Given the description of an element on the screen output the (x, y) to click on. 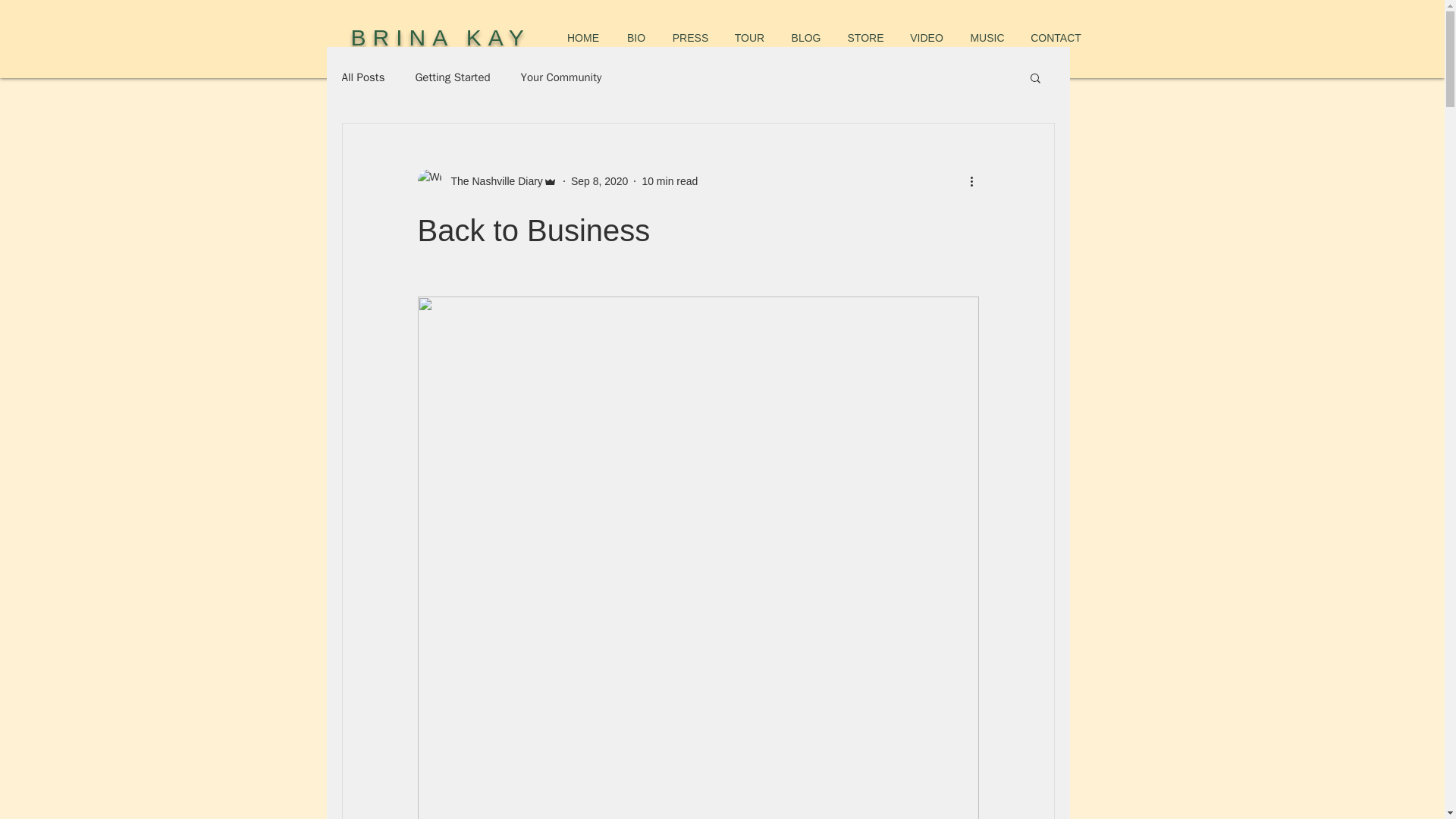
The Nashville Diary (486, 180)
VIDEO (926, 38)
BLOG (805, 38)
CONTACT (1055, 38)
Sep 8, 2020 (599, 180)
Getting Started (451, 76)
PRESS (690, 38)
10 min read (669, 180)
All Posts (362, 76)
MUSIC (986, 38)
HOME (582, 38)
The Nashville Diary (491, 180)
TOUR (749, 38)
BIO (635, 38)
Your Community (561, 76)
